Given the description of an element on the screen output the (x, y) to click on. 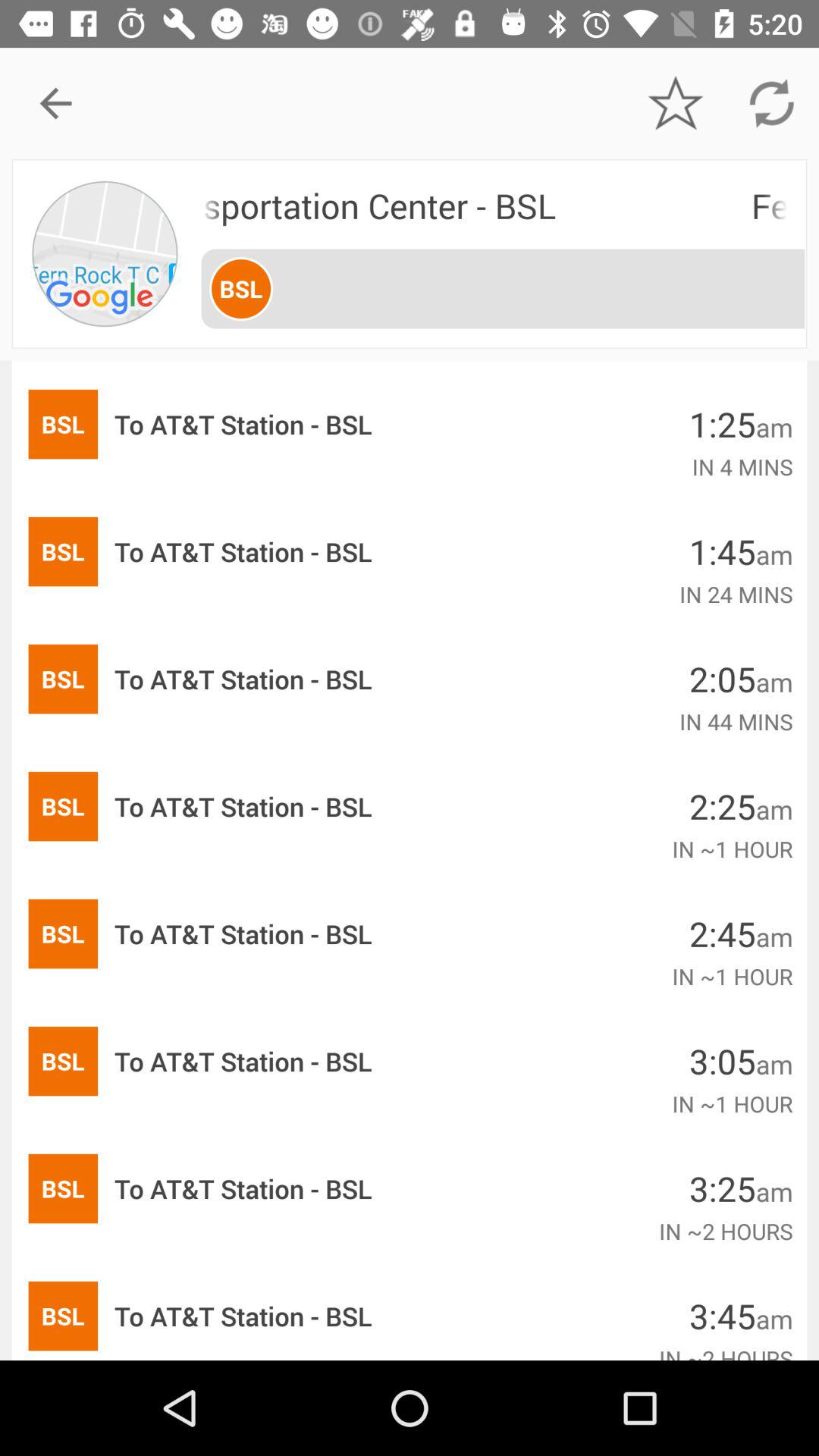
choose the icon above fern rock transportation icon (771, 103)
